Given the description of an element on the screen output the (x, y) to click on. 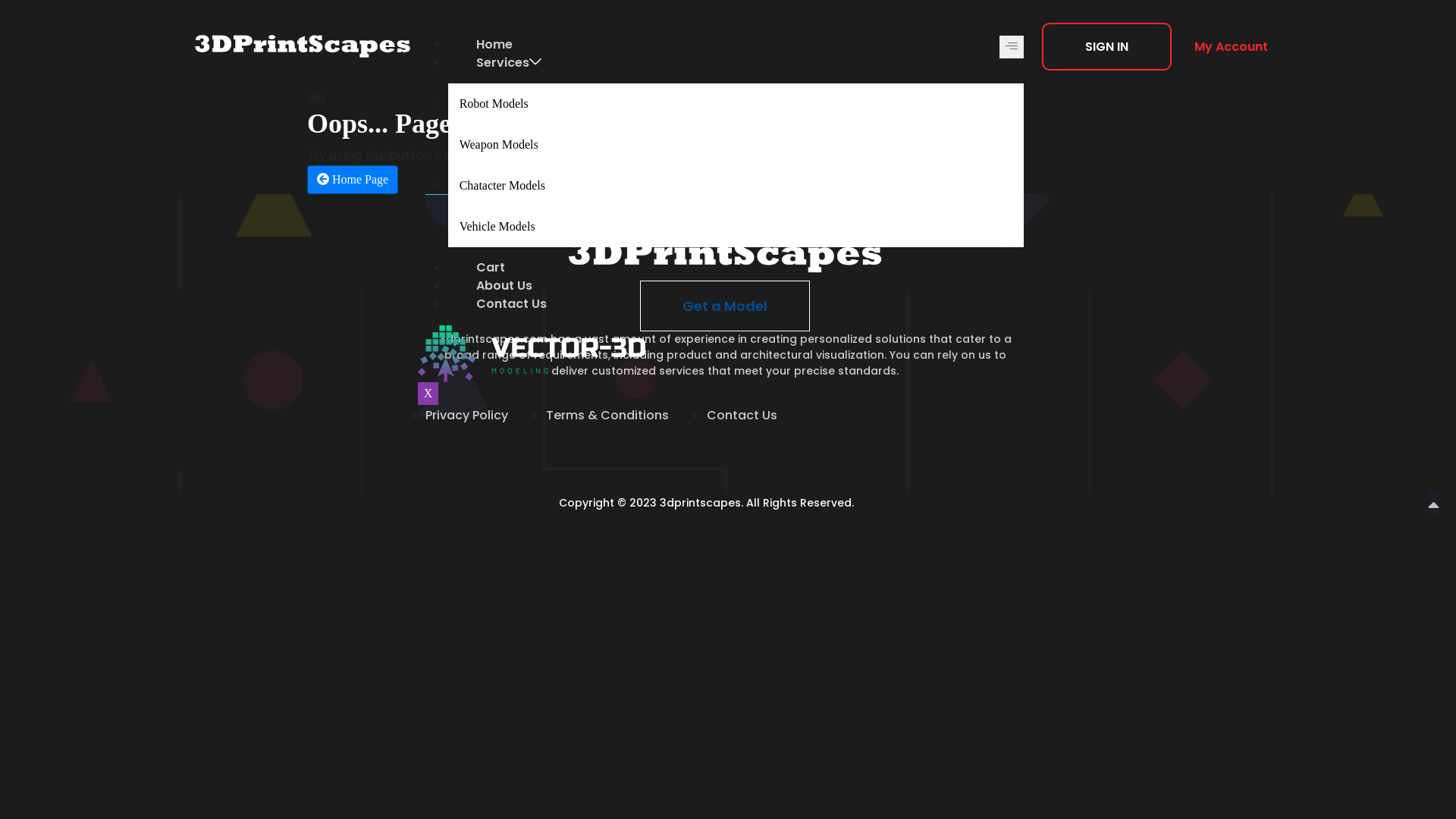
SIGN IN Element type: text (1106, 46)
My Account Element type: text (1230, 46)
About Us Element type: text (504, 285)
Terms & Conditions Element type: text (607, 414)
Chatacter Models Element type: text (736, 185)
Vehicle Models Element type: text (736, 226)
Contact Us Element type: text (511, 303)
Home Page Element type: text (352, 179)
Get a Model Element type: text (724, 305)
Services Element type: text (508, 62)
Cart Element type: text (490, 267)
X Element type: text (428, 393)
Robot Models Element type: text (736, 103)
Weapon Models Element type: text (736, 144)
Home Element type: text (494, 44)
Privacy Policy Element type: text (466, 414)
Contact Us Element type: text (741, 414)
